Given the description of an element on the screen output the (x, y) to click on. 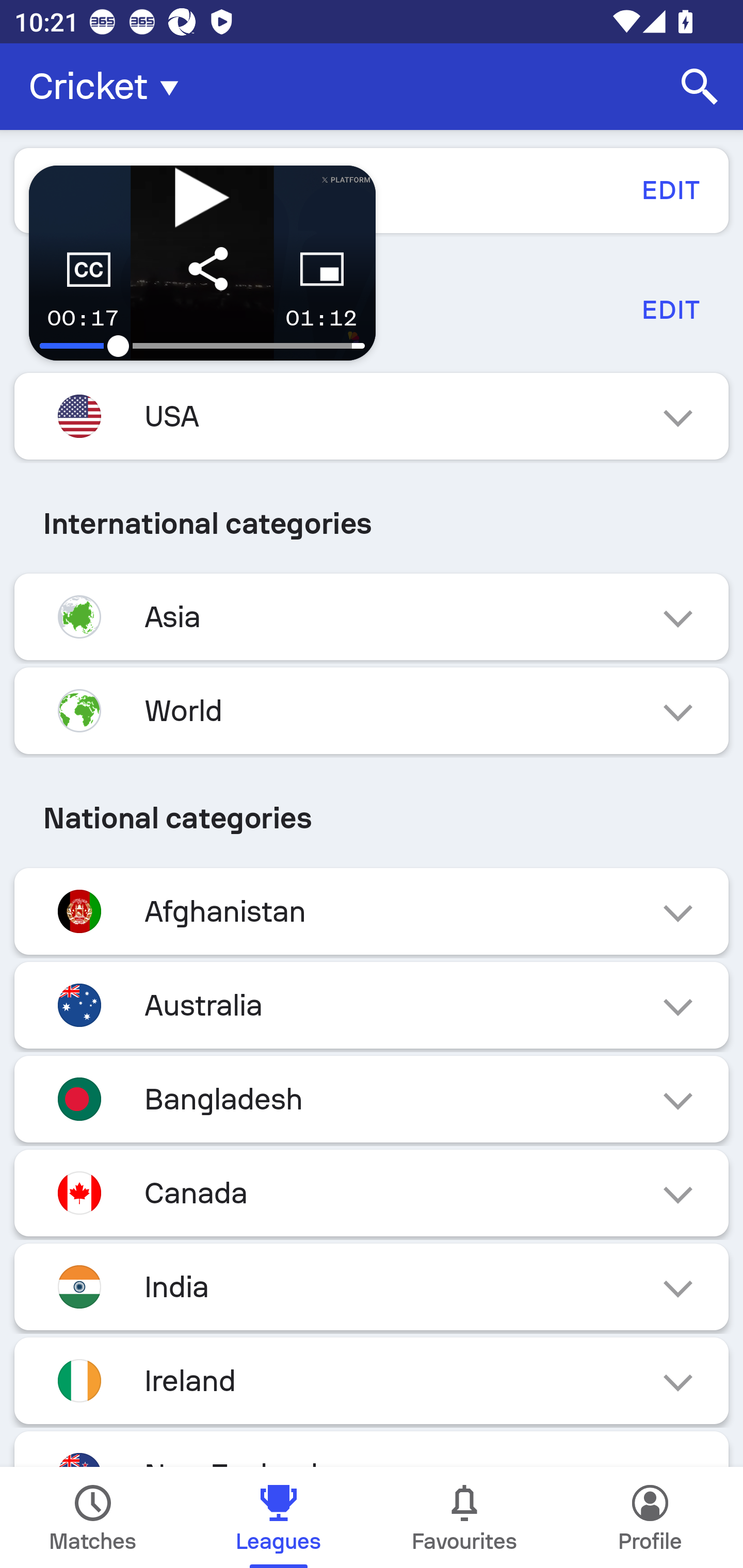
Cricket (109, 86)
Search (699, 86)
EDIT (670, 190)
EDIT (670, 309)
USA (371, 416)
International categories (371, 523)
Asia (371, 616)
World (371, 710)
National categories (371, 817)
Afghanistan (371, 911)
Australia (371, 1004)
Bangladesh (371, 1099)
Canada (371, 1192)
India (371, 1286)
Ireland (371, 1380)
Matches (92, 1517)
Favourites (464, 1517)
Profile (650, 1517)
